Given the description of an element on the screen output the (x, y) to click on. 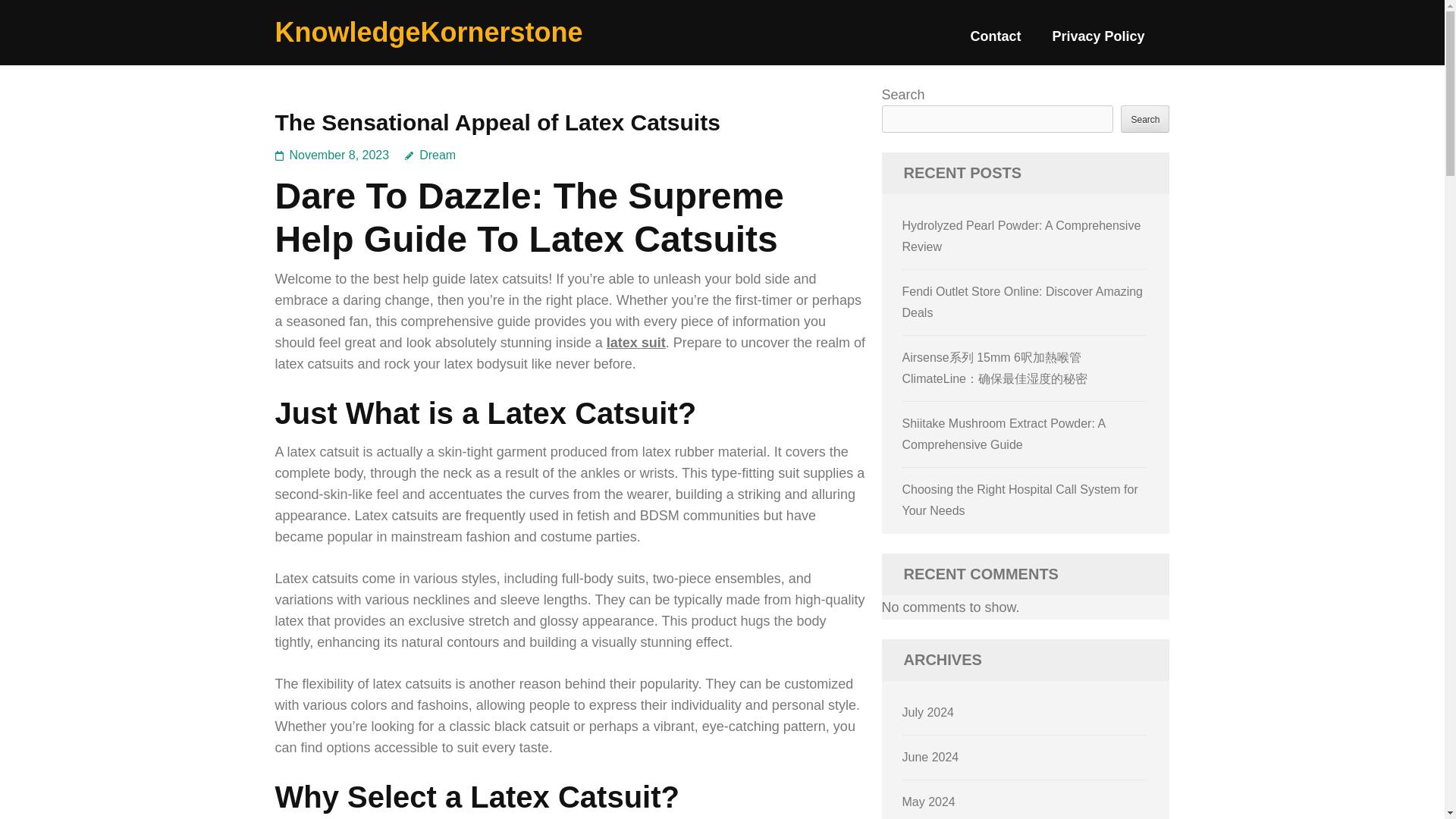
Hydrolyzed Pearl Powder: A Comprehensive Review (1021, 236)
Privacy Policy (1097, 42)
Search (1145, 118)
Dream (429, 154)
June 2024 (930, 757)
May 2024 (928, 801)
KnowledgeKornerstone (428, 31)
Fendi Outlet Store Online: Discover Amazing Deals (1022, 302)
November 8, 2023 (339, 154)
latex suit (636, 342)
July 2024 (928, 712)
Contact (994, 42)
Choosing the Right Hospital Call System for Your Needs (1020, 499)
Shiitake Mushroom Extract Powder: A Comprehensive Guide (1003, 433)
